Given the description of an element on the screen output the (x, y) to click on. 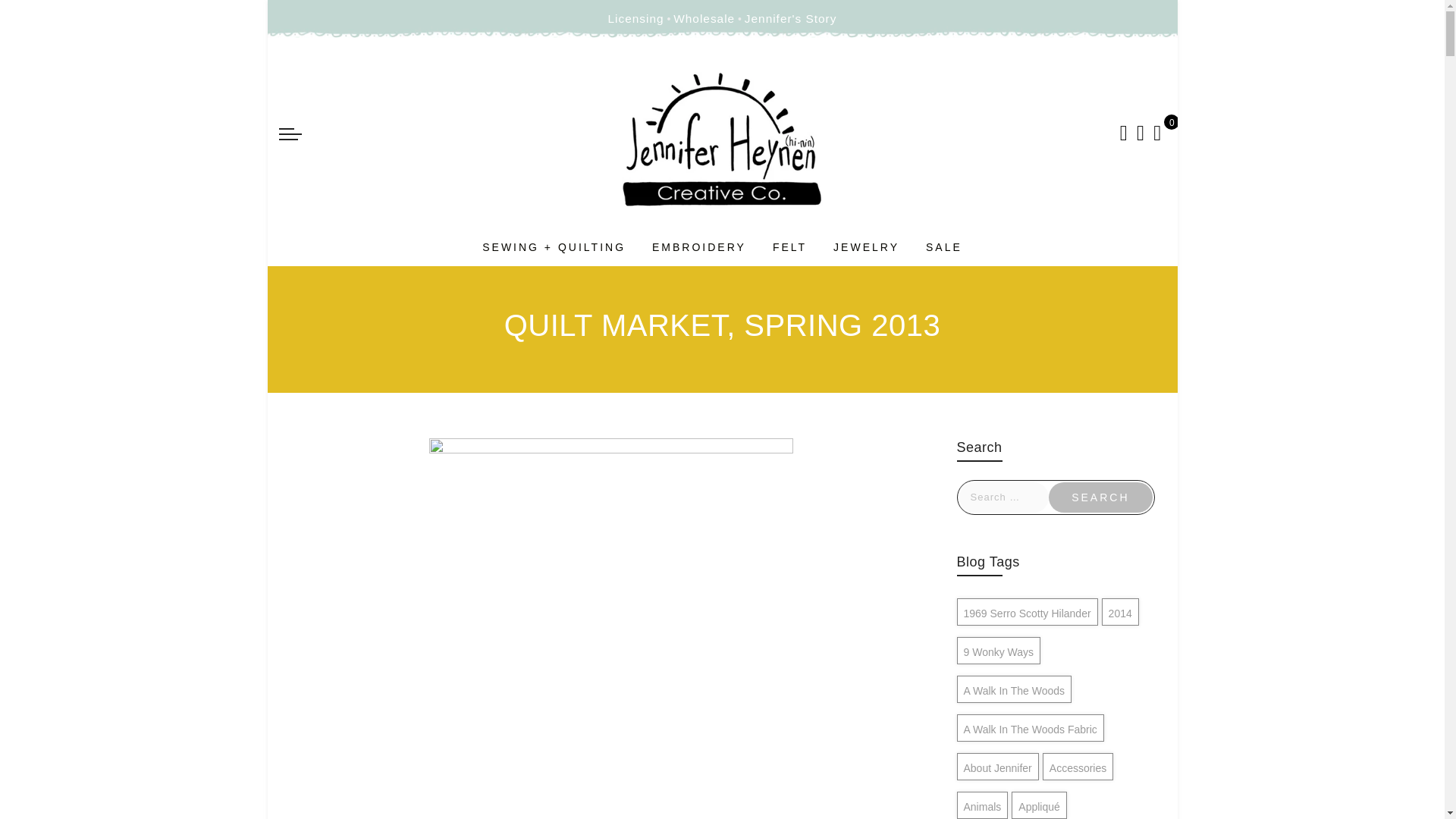
JEWELRY (865, 246)
SALE (944, 246)
Jennifer's Story (790, 19)
Wholesale (703, 19)
View your shopping cart (1156, 132)
Licensing (635, 19)
0 (1156, 132)
Search (1099, 497)
FELT (789, 246)
Search (1099, 497)
EMBROIDERY (698, 246)
